Given the description of an element on the screen output the (x, y) to click on. 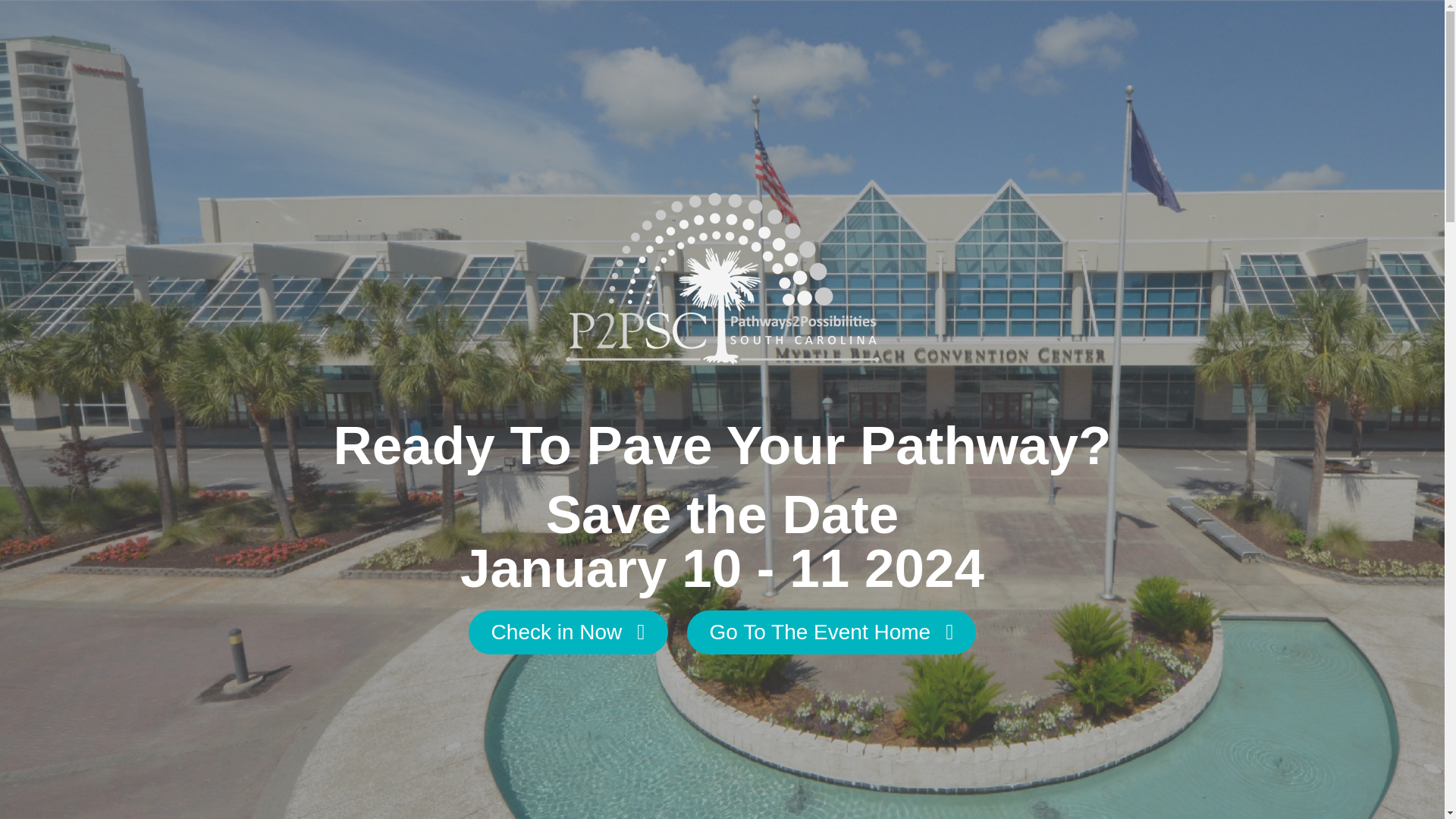
Go To The Event Home (831, 632)
Check in Now (568, 632)
